Given the description of an element on the screen output the (x, y) to click on. 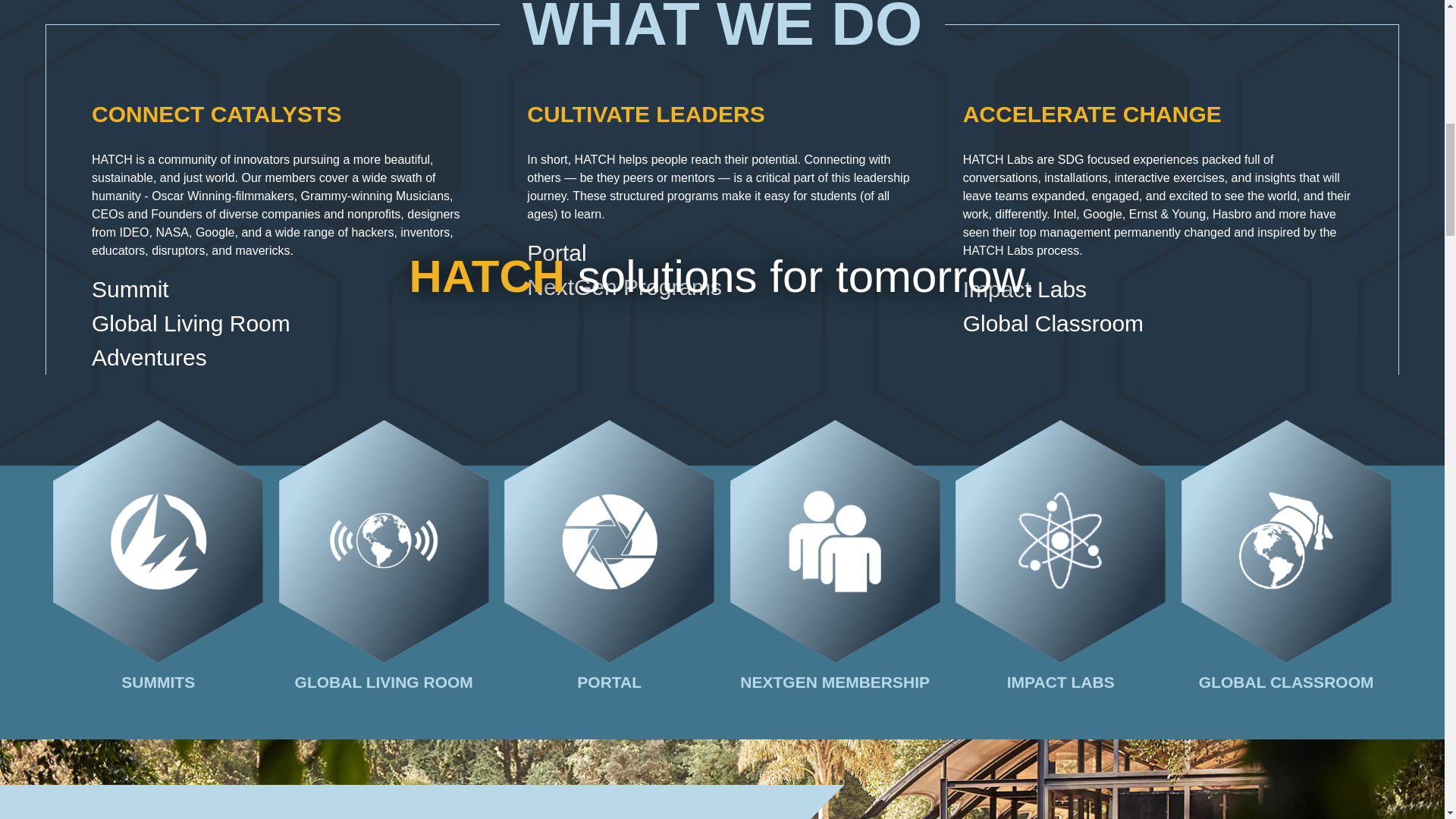
Summit (286, 288)
Adventures (286, 357)
Portal (722, 252)
Global Classroom (1157, 323)
Global Living Room (286, 323)
NextGen Programs (722, 286)
Impact Labs (1157, 288)
